Given the description of an element on the screen output the (x, y) to click on. 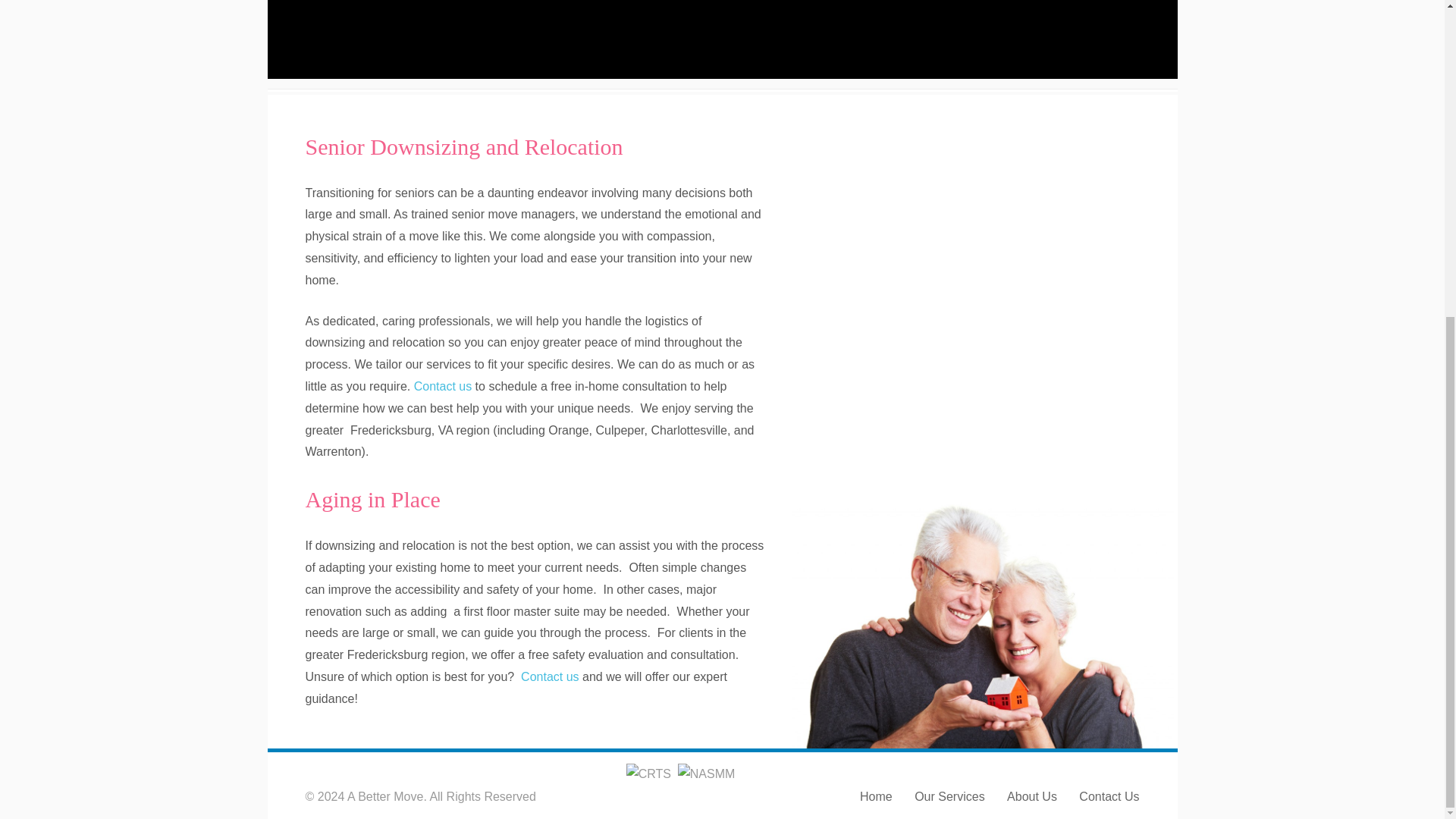
Home (876, 796)
About Us (1032, 796)
Contact Us (1108, 796)
Contact us (549, 676)
Our Services (949, 796)
Contact us (442, 386)
